Given the description of an element on the screen output the (x, y) to click on. 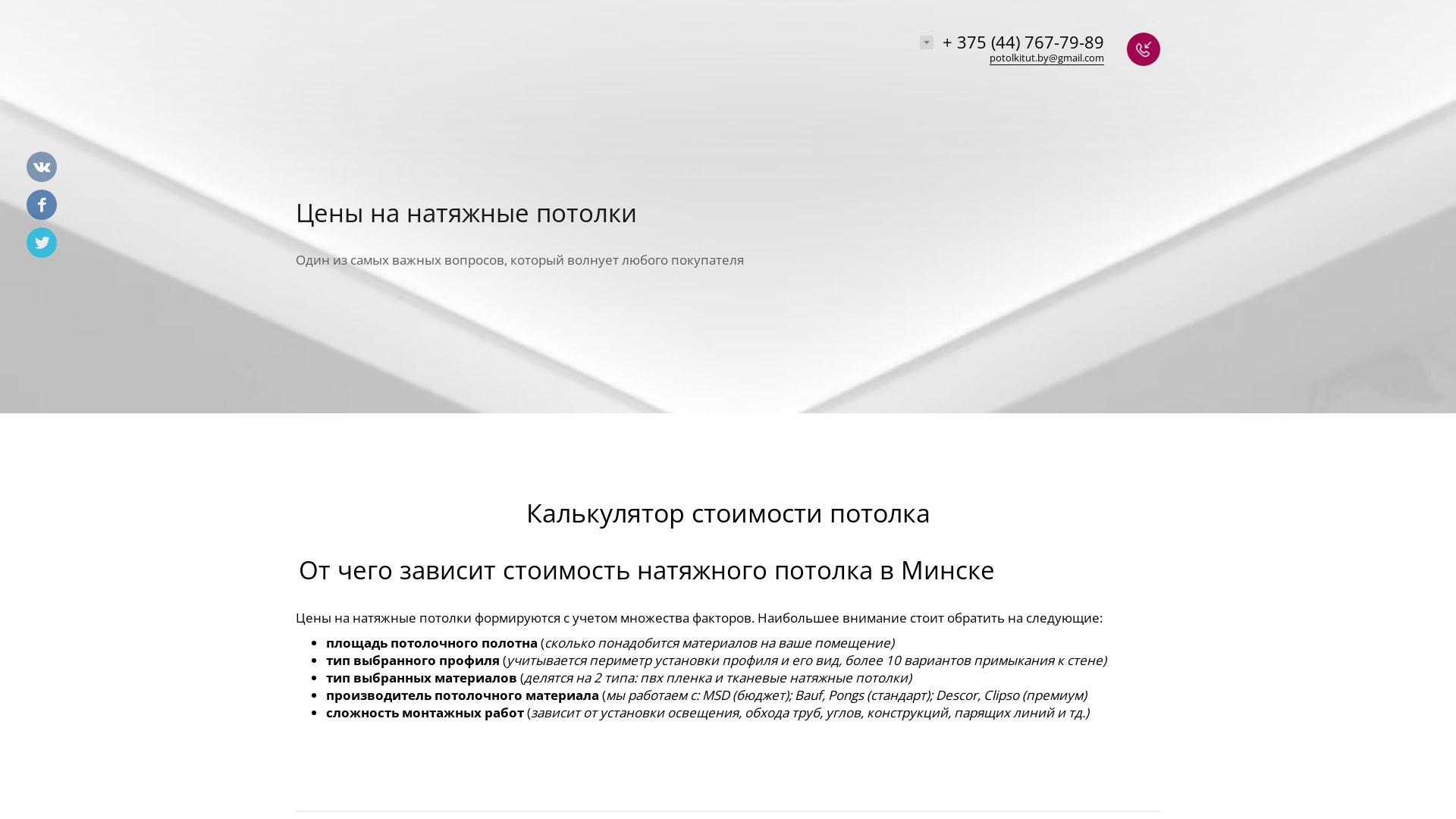
potolkitut.by@gmail.com Element type: text (1046, 57)
+ 375 (44) 767-79-89 Element type: text (1023, 41)
